Given the description of an element on the screen output the (x, y) to click on. 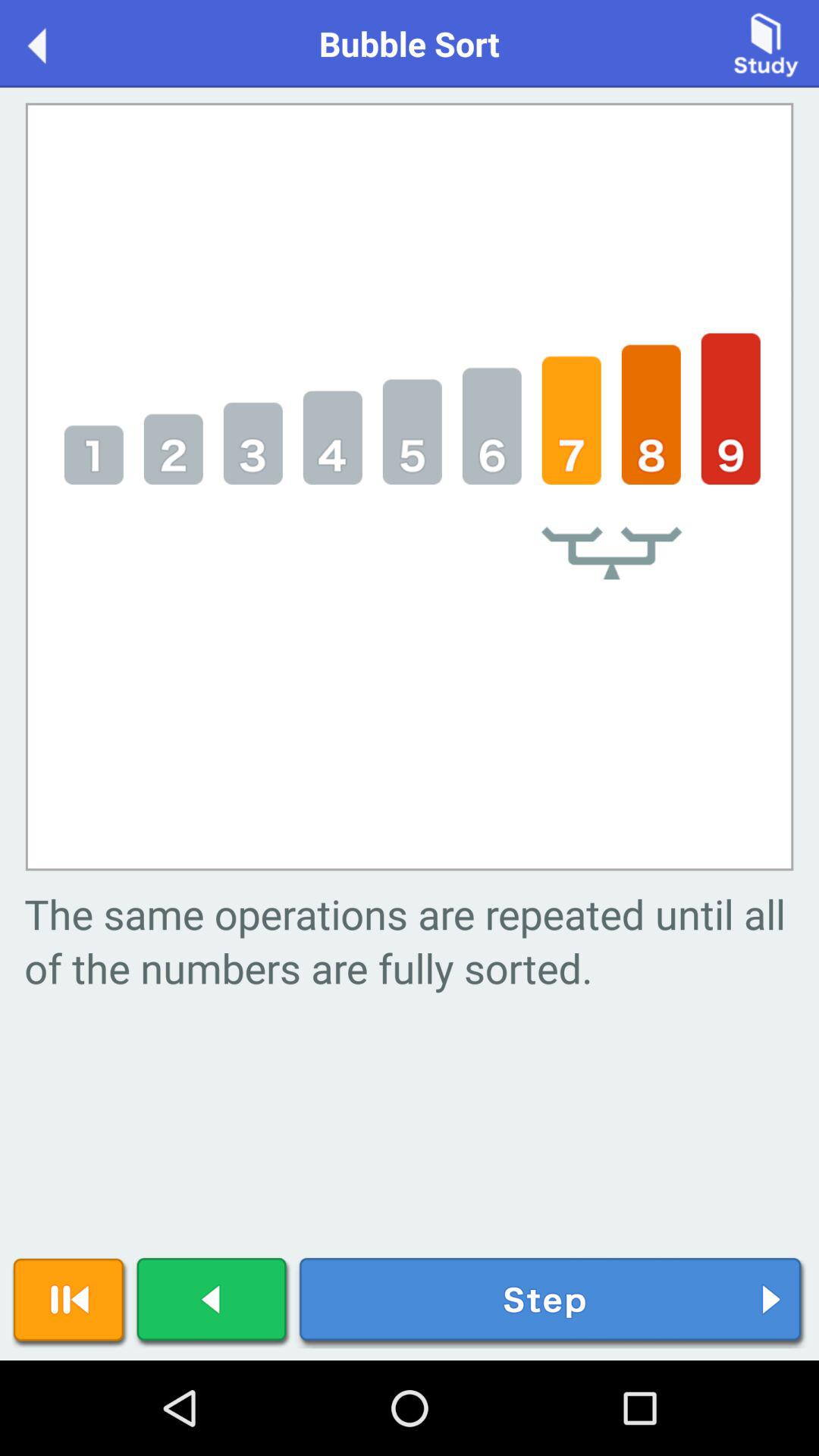
turn off icon to the left of the bubble sort item (52, 42)
